Given the description of an element on the screen output the (x, y) to click on. 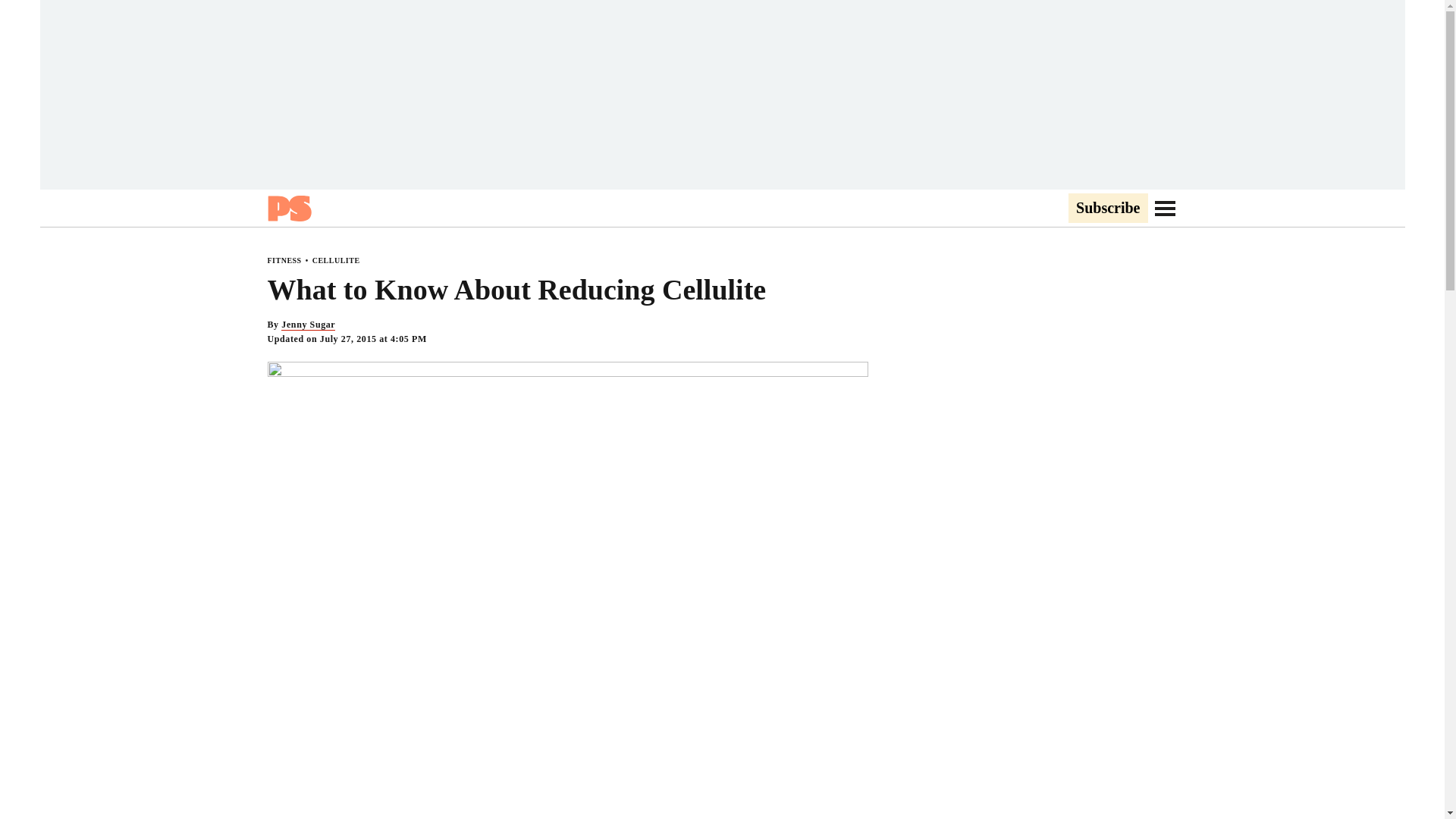
Go to Navigation (1164, 207)
Jenny Sugar (307, 324)
CELLULITE (336, 260)
Subscribe (1107, 208)
Go to Navigation (1164, 207)
FITNESS (283, 260)
Popsugar (288, 208)
